Given the description of an element on the screen output the (x, y) to click on. 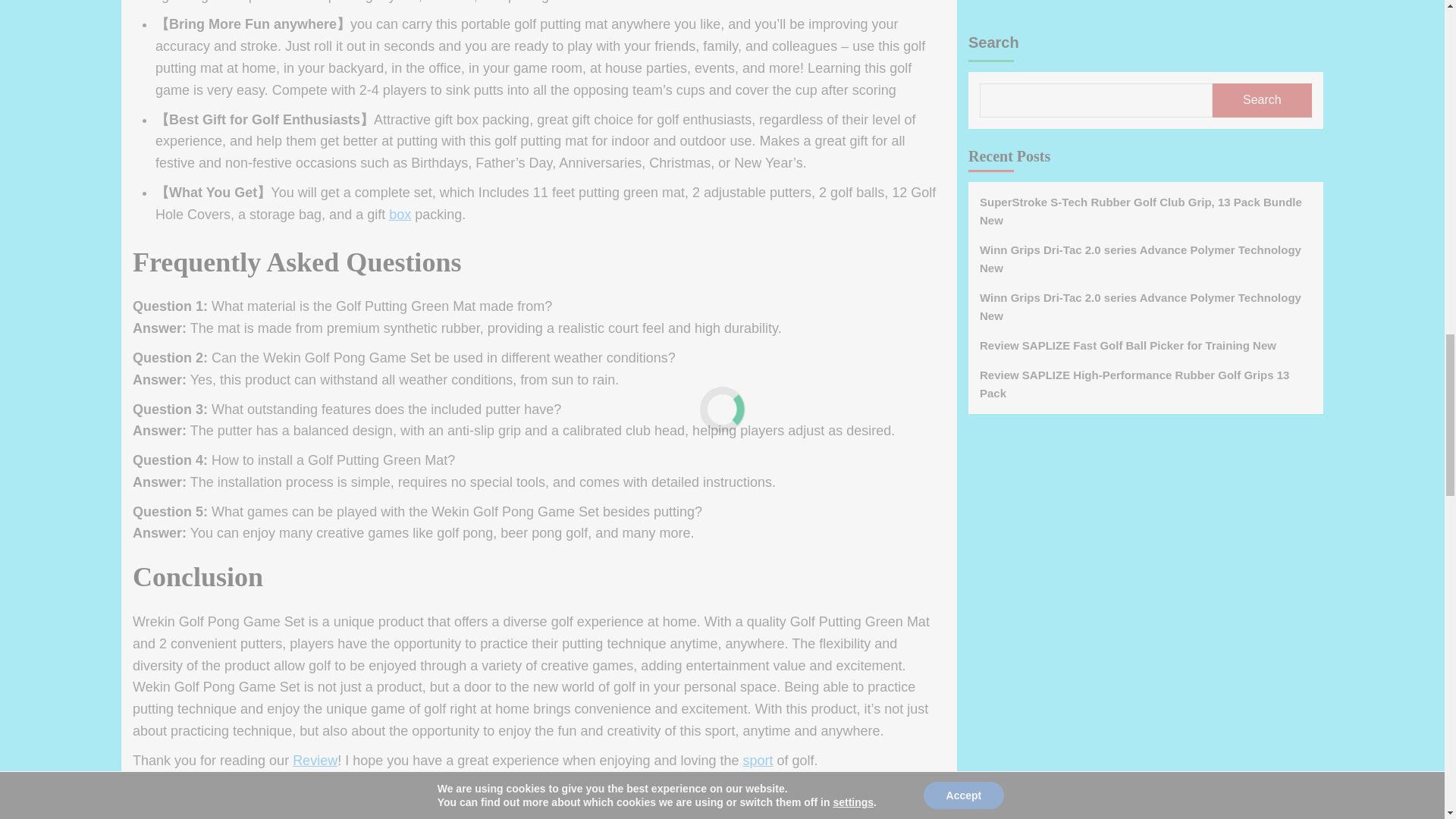
Review (314, 760)
box (335, 803)
sport (399, 214)
